Given the description of an element on the screen output the (x, y) to click on. 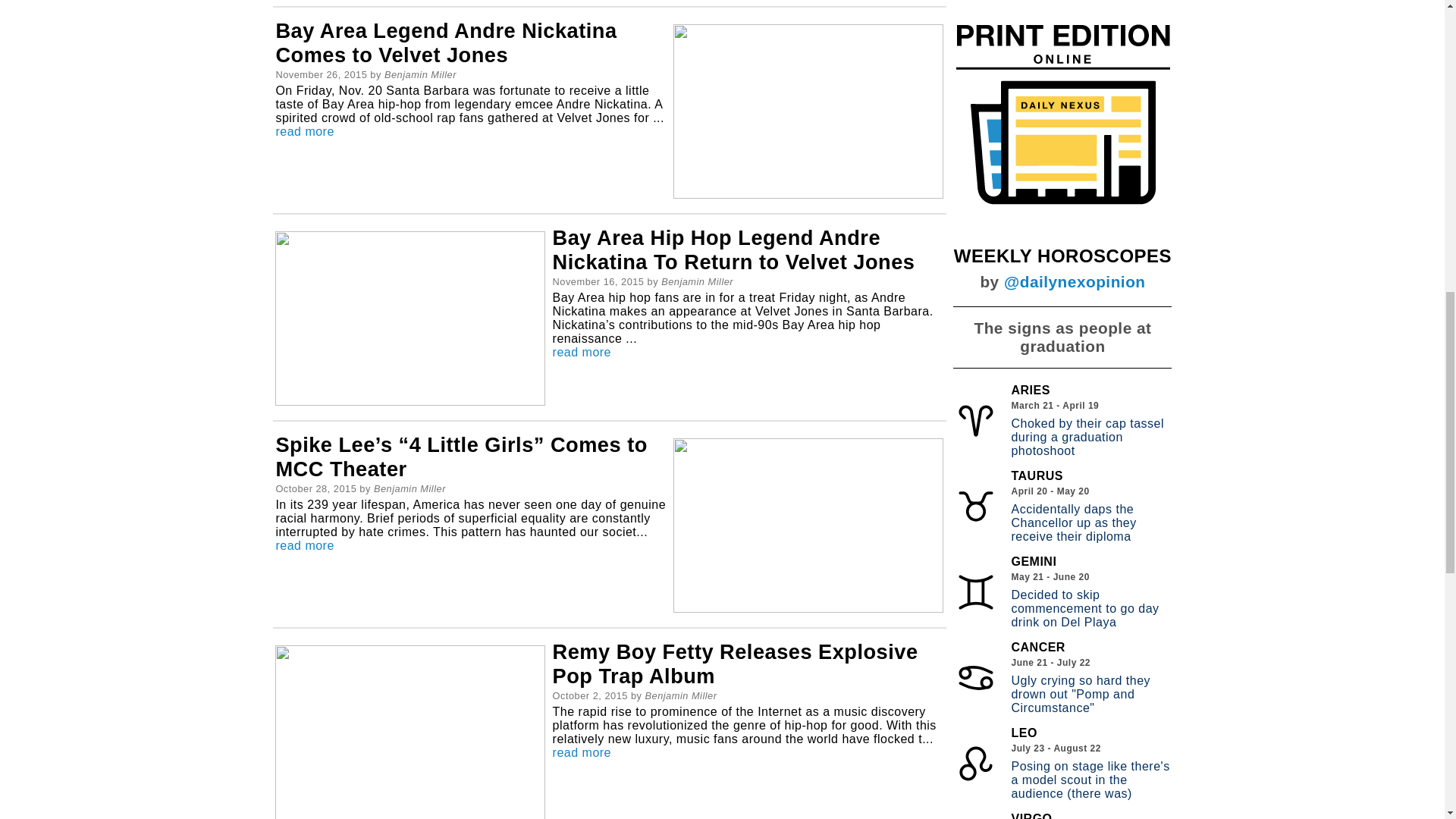
Posts by Benjamin Miller (409, 488)
Posts by Benjamin Miller (697, 281)
Posts by Benjamin Miller (680, 695)
Posts by Benjamin Miller (420, 74)
